Given the description of an element on the screen output the (x, y) to click on. 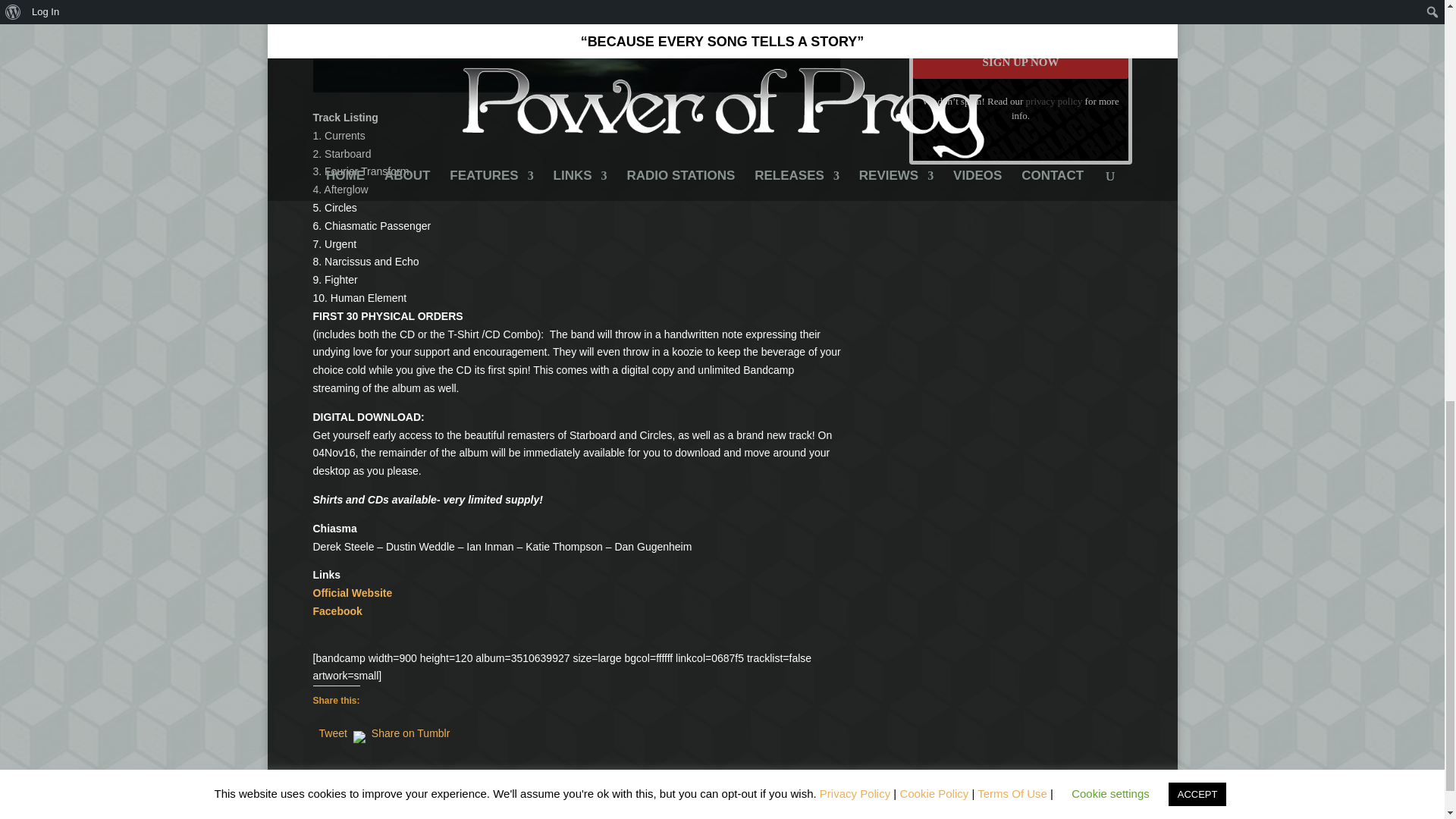
Email Address (1020, 15)
SIGN UP NOW (1020, 61)
Share on Tumblr (410, 730)
